Given the description of an element on the screen output the (x, y) to click on. 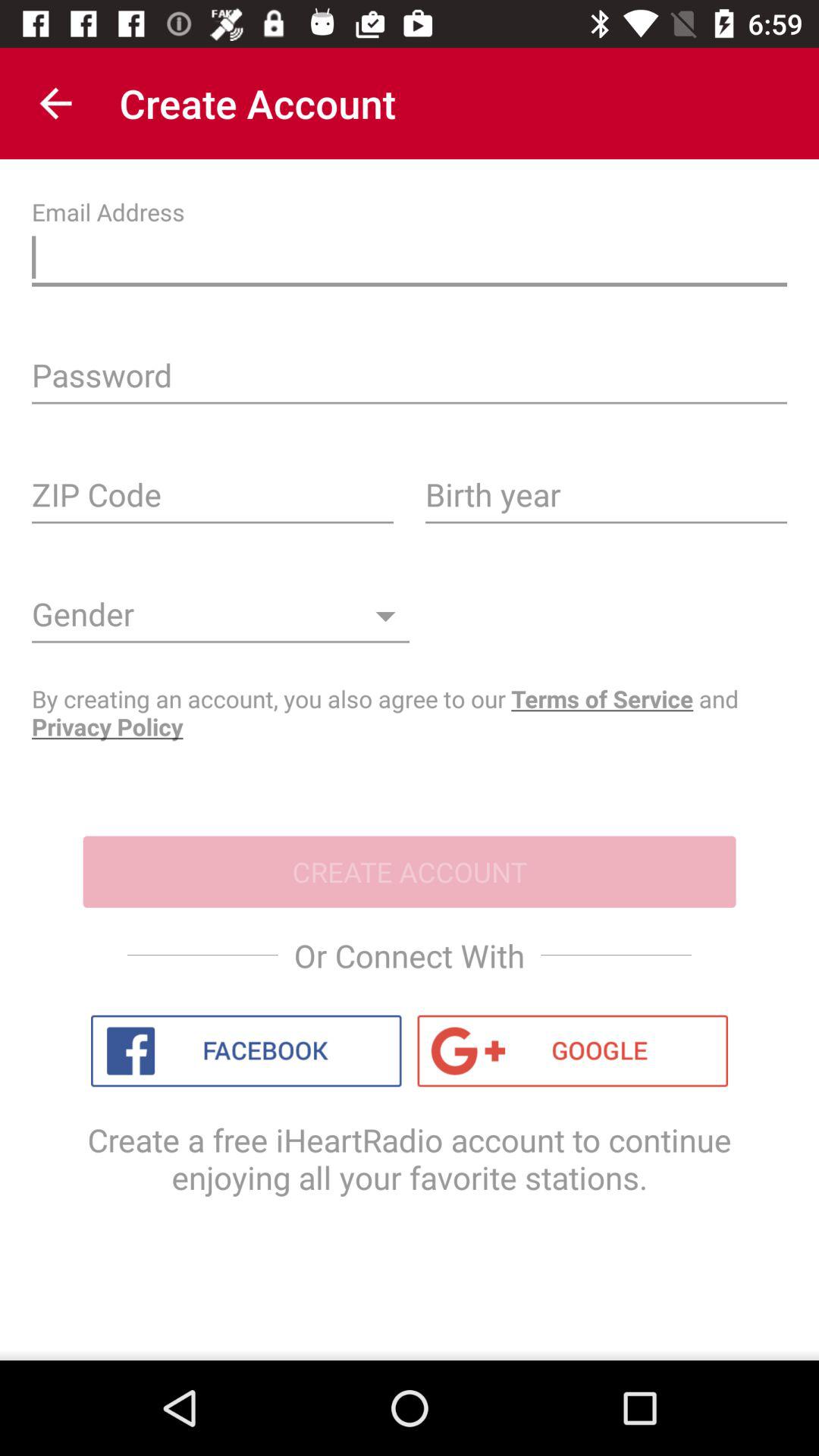
tap the icon below the or connect with (246, 1050)
